Given the description of an element on the screen output the (x, y) to click on. 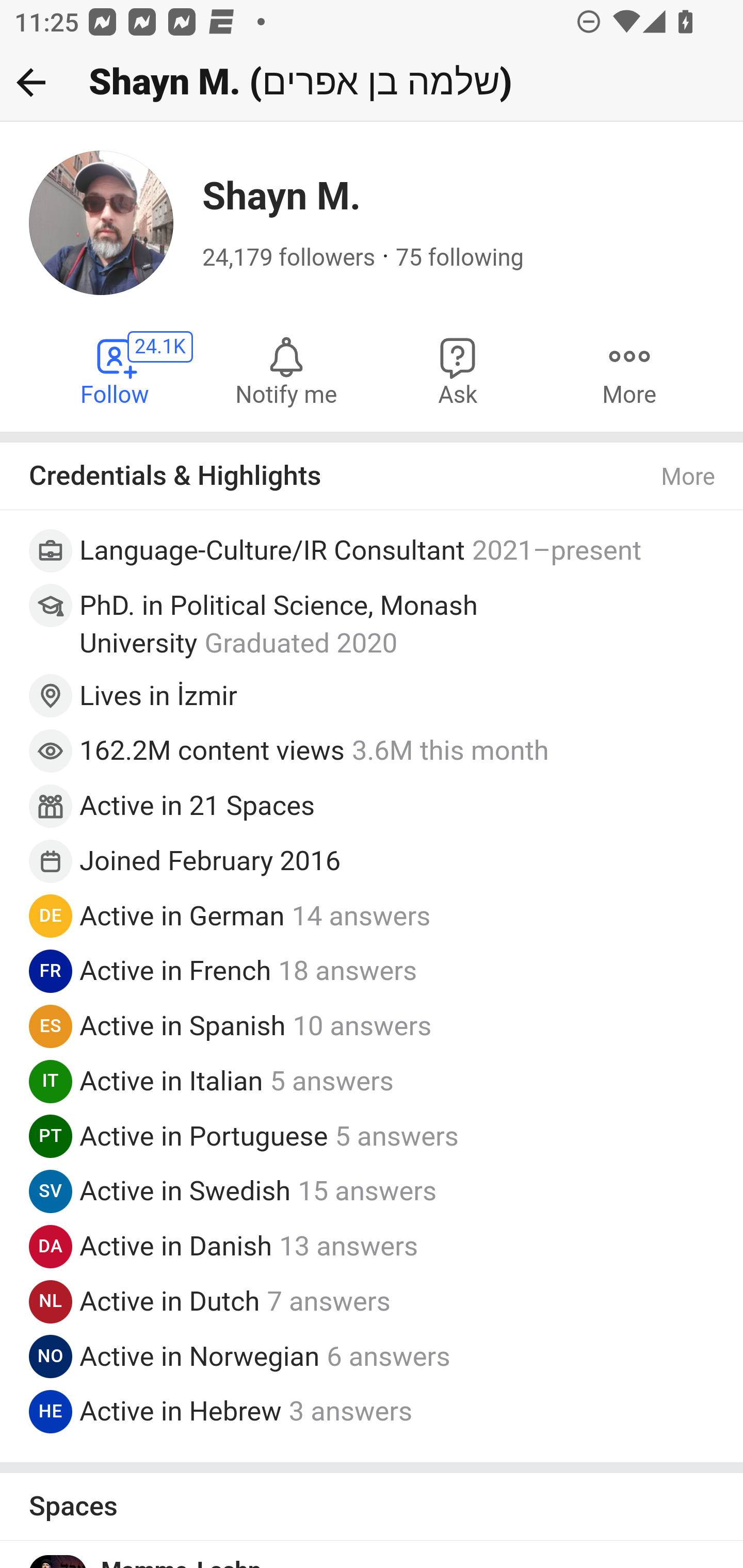
Back (30, 82)
Follow Shayn M. 24.1K Follow (115, 370)
Notify me (285, 370)
Ask (458, 370)
More (628, 370)
More (688, 477)
Active in German Active in  German (182, 914)
Active in French Active in  French (175, 970)
Active in Spanish Active in  Spanish (182, 1026)
Active in Italian Active in  Italian (171, 1080)
Active in Portuguese Active in  Portuguese (203, 1134)
Active in Swedish Active in  Swedish (185, 1191)
Active in Danish Active in  Danish (175, 1246)
Active in Dutch Active in  Dutch (169, 1301)
Active in Norwegian Active in  Norwegian (200, 1355)
Active in Hebrew Active in  Hebrew (180, 1410)
